Given the description of an element on the screen output the (x, y) to click on. 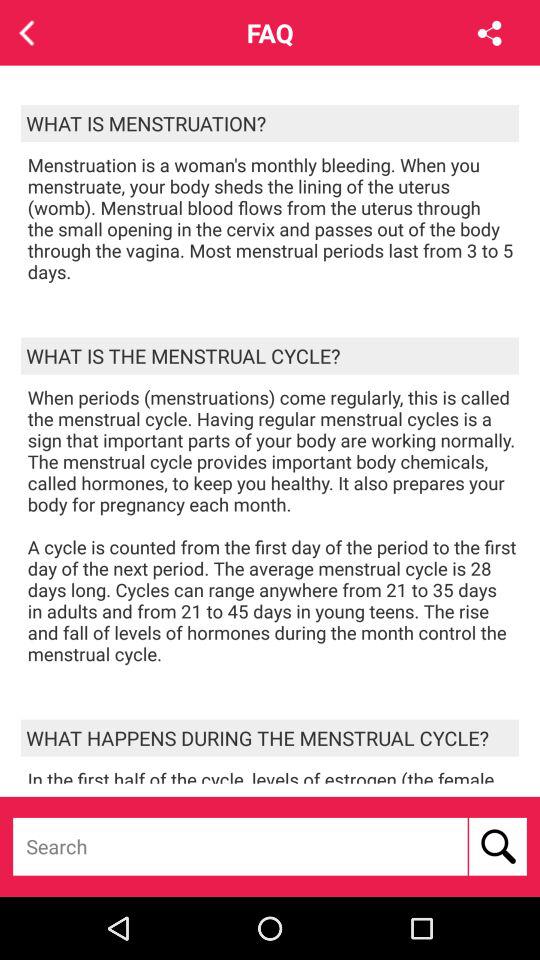
select icon above the in the first item (270, 737)
